Given the description of an element on the screen output the (x, y) to click on. 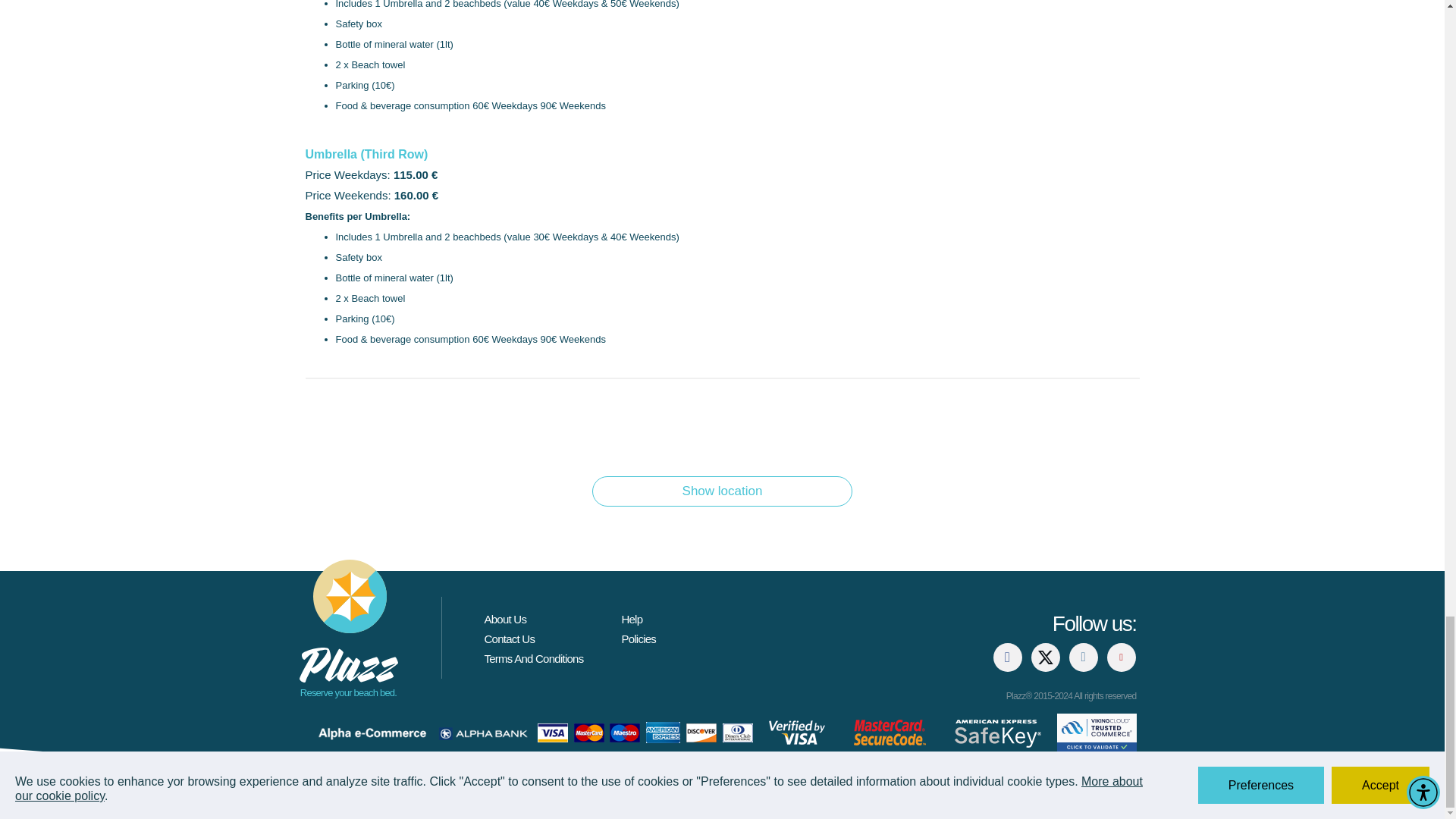
Help (631, 618)
About Us (504, 618)
Show location (721, 490)
Policies (638, 638)
Contact Us (508, 638)
Terms And Conditions (533, 658)
